Given the description of an element on the screen output the (x, y) to click on. 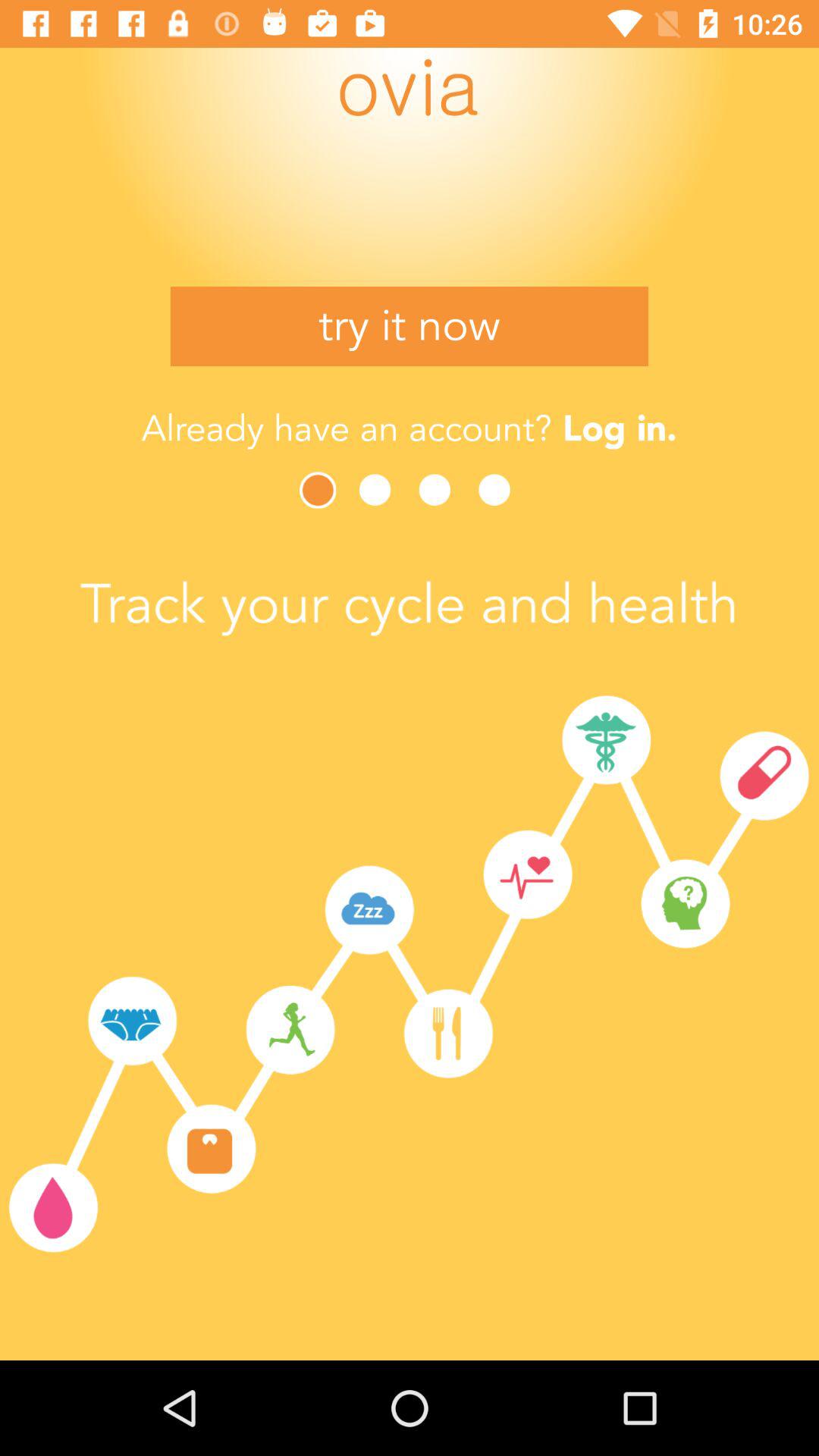
choose button (319, 490)
